Given the description of an element on the screen output the (x, y) to click on. 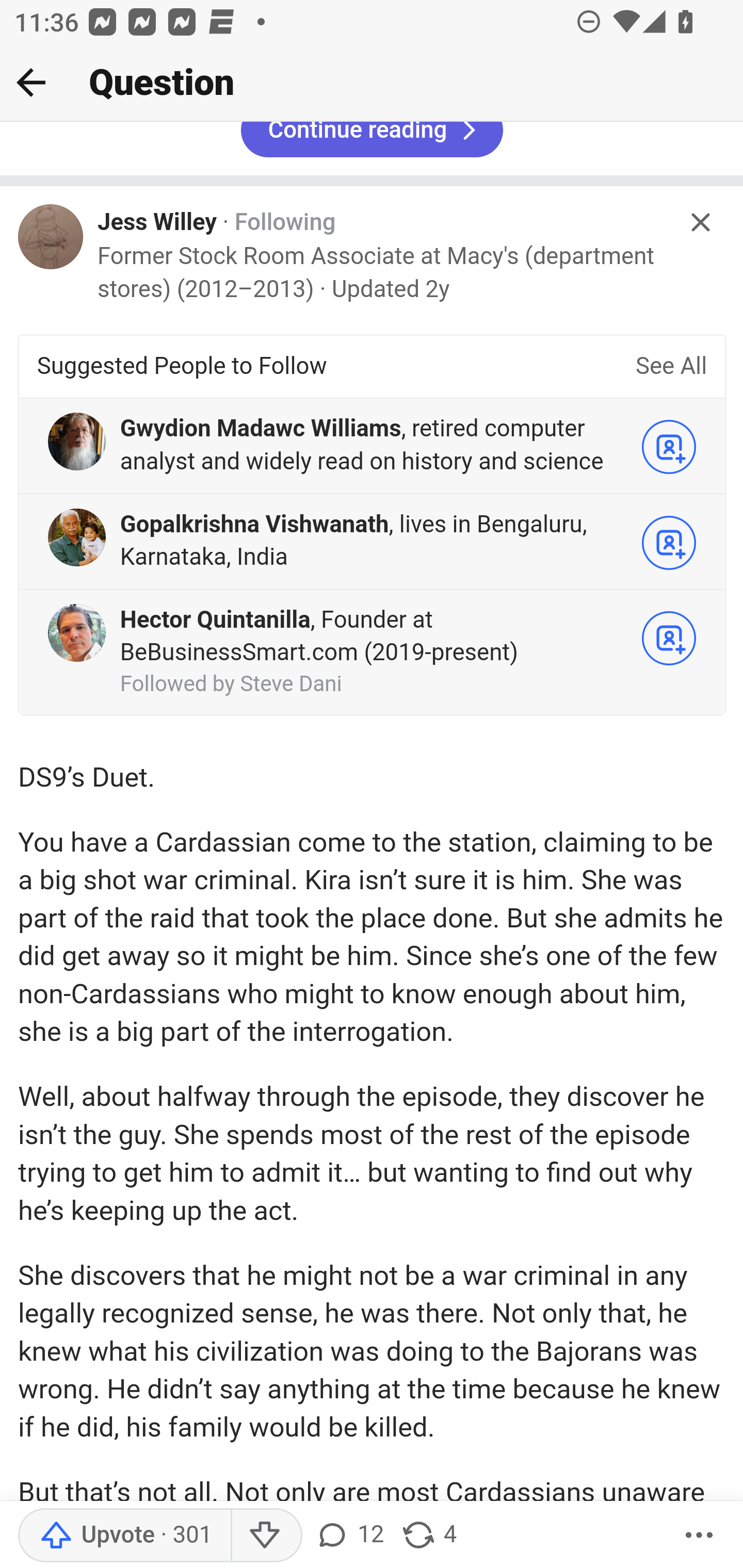
Back (30, 82)
Continue reading (371, 140)
Hide (700, 223)
Profile photo for Jess Willey (50, 236)
Jess Willey (157, 223)
Following (284, 223)
See All (670, 367)
Profile photo for Gwydion Madawc Williams (76, 441)
Gwydion Madawc Williams (260, 430)
Follow Gwydion Madawc Williams (668, 446)
Profile photo for Gopalkrishna Vishwanath (76, 537)
Gopalkrishna Vishwanath (254, 526)
Follow Gopalkrishna Vishwanath (668, 542)
Profile photo for Hector Quintanilla (76, 633)
Hector Quintanilla (215, 620)
Follow Hector Quintanilla (668, 637)
Upvote (124, 1535)
Downvote (266, 1535)
12 comments (349, 1535)
4 shares (428, 1535)
More (699, 1535)
